Given the description of an element on the screen output the (x, y) to click on. 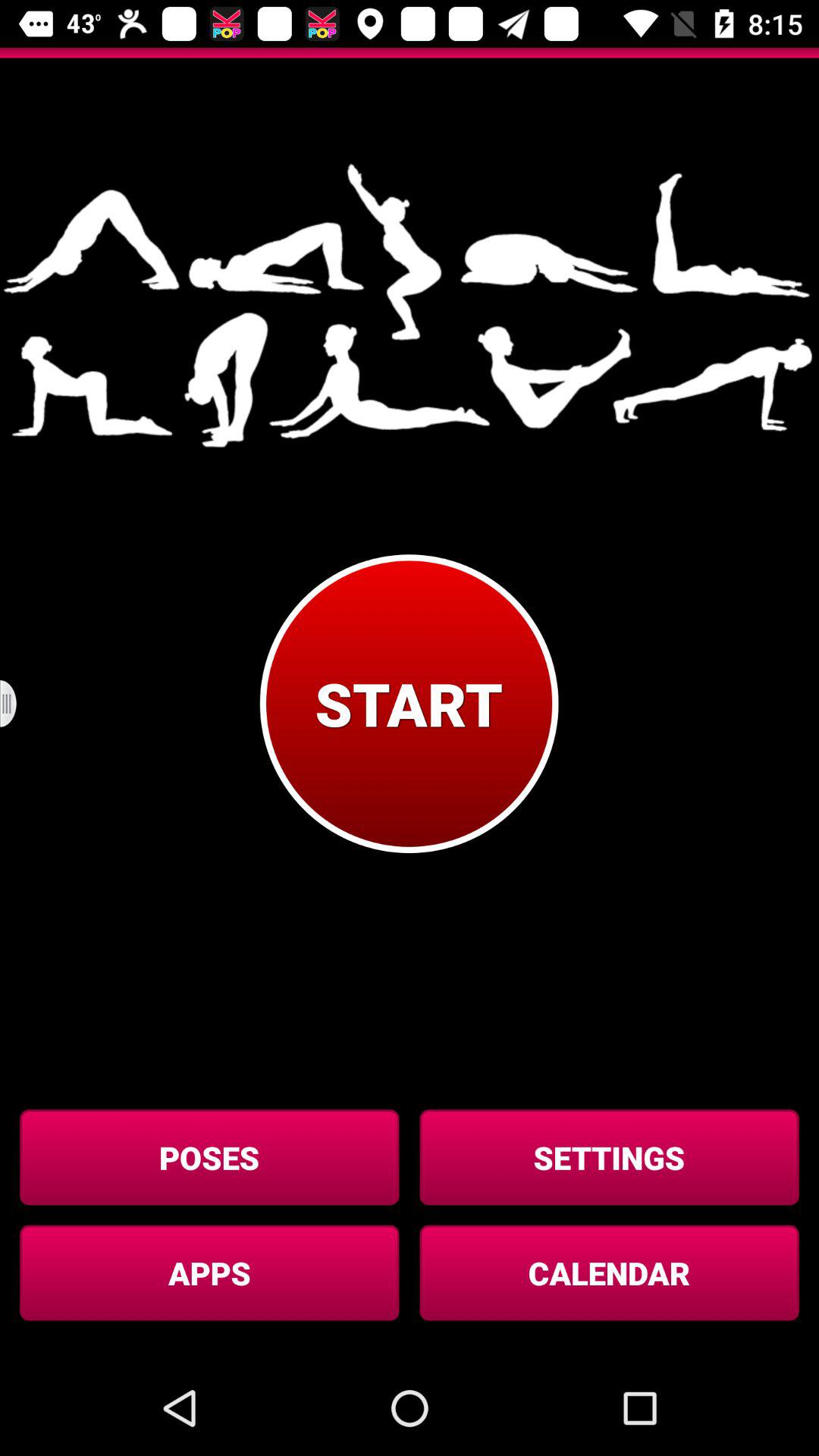
tap button above calendar (609, 1157)
